Given the description of an element on the screen output the (x, y) to click on. 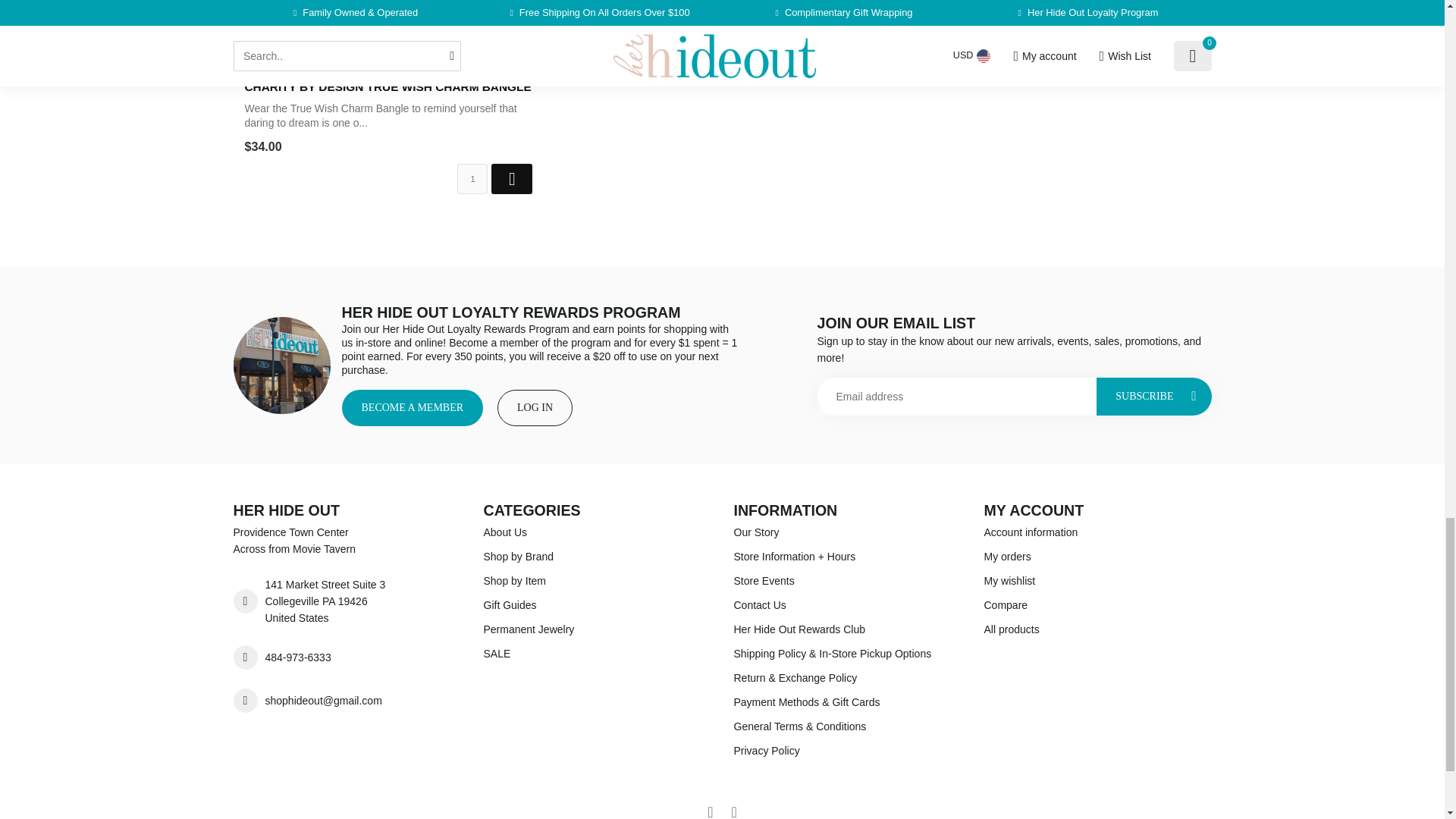
Our Story (846, 532)
Store Events (846, 580)
Her Hide Out Rewards Club (846, 629)
1 (472, 178)
Contact Us (846, 604)
